Given the description of an element on the screen output the (x, y) to click on. 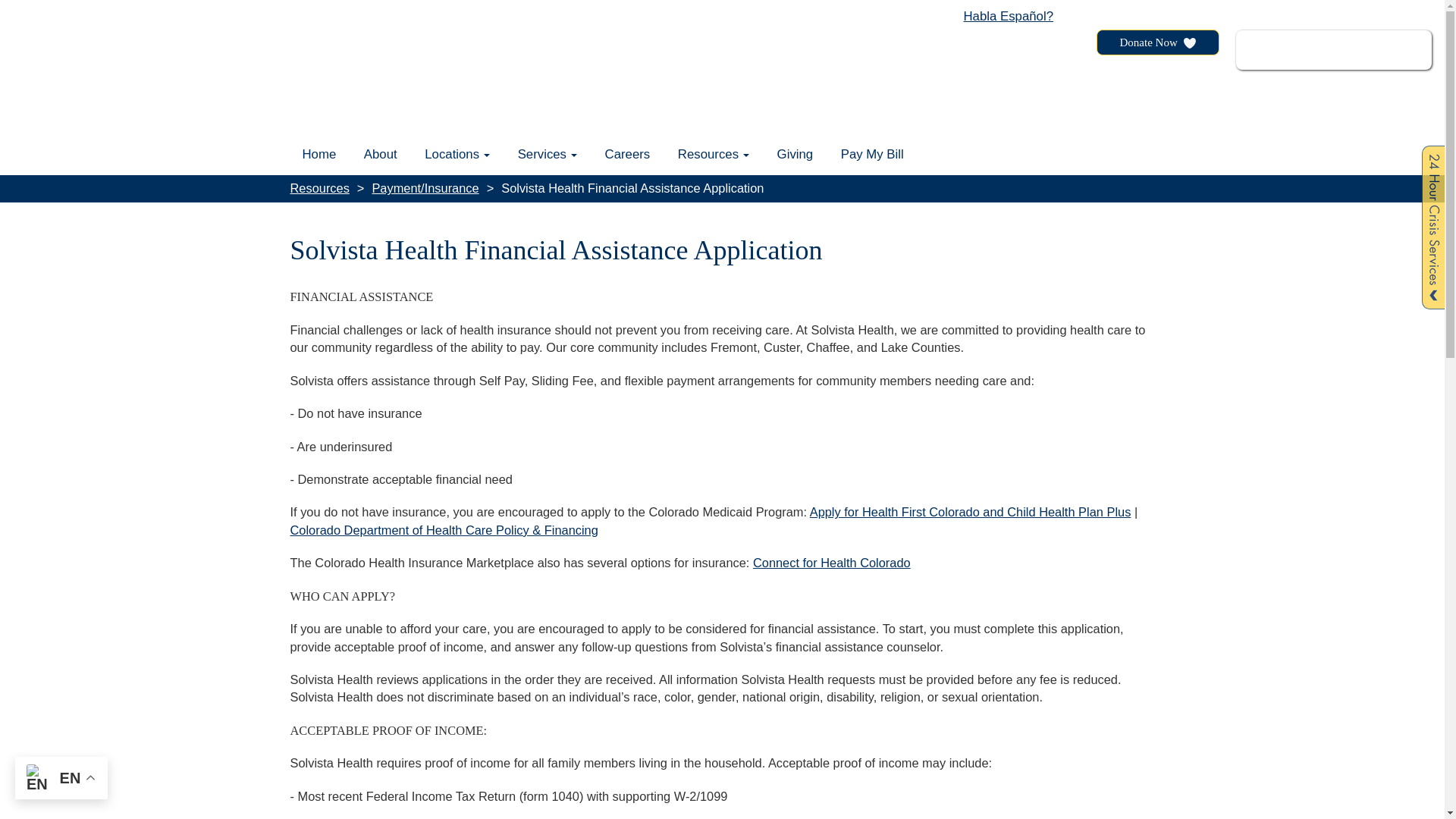
Resources (713, 154)
Donate Now   (1158, 42)
About (380, 154)
Locations (456, 154)
Home (318, 154)
Services (547, 154)
Careers (627, 154)
